Given the description of an element on the screen output the (x, y) to click on. 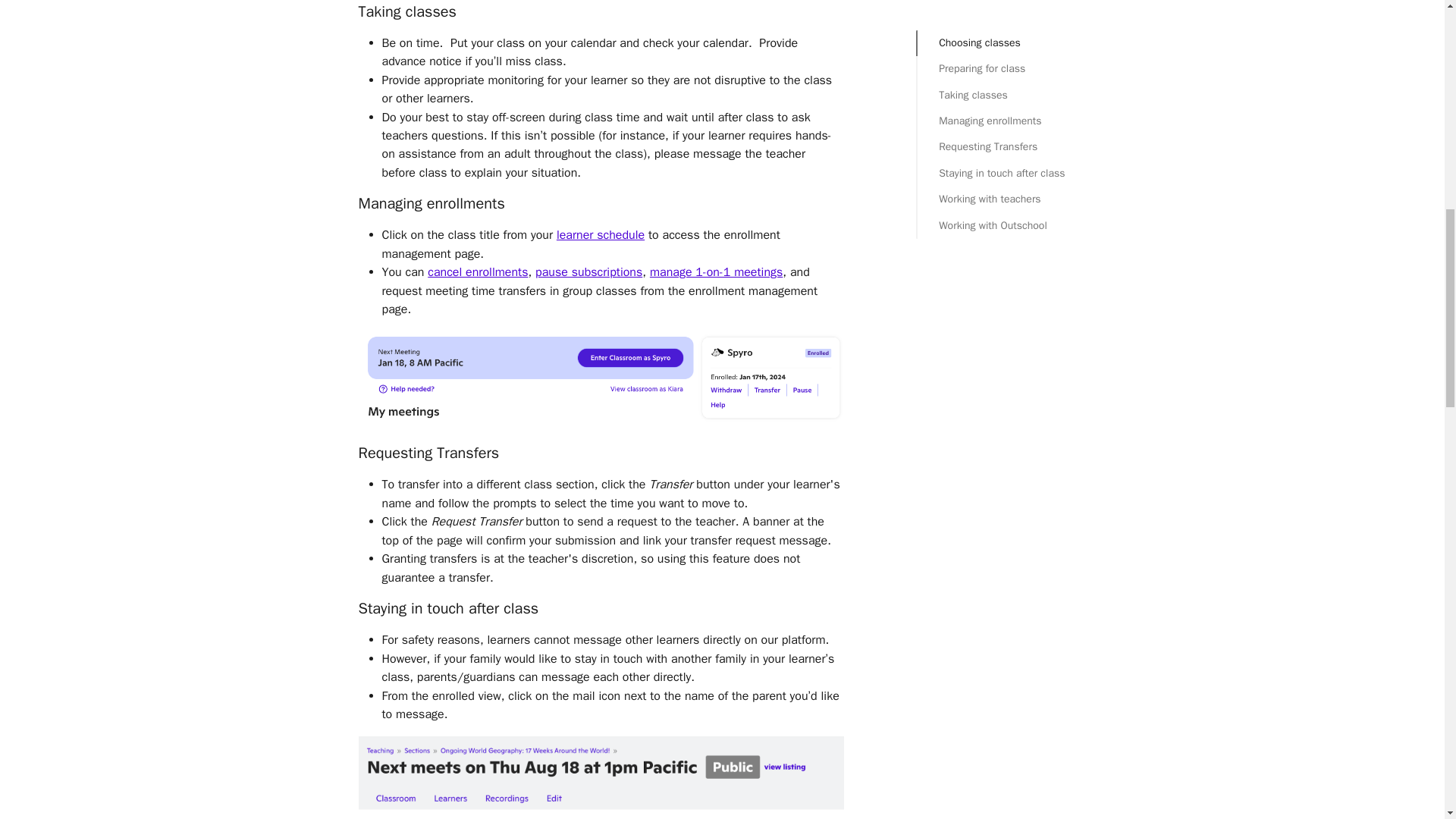
learner schedule (600, 234)
pause subscriptions (588, 272)
cancel enrollments (477, 272)
manage 1-on-1 meetings (716, 272)
